Given the description of an element on the screen output the (x, y) to click on. 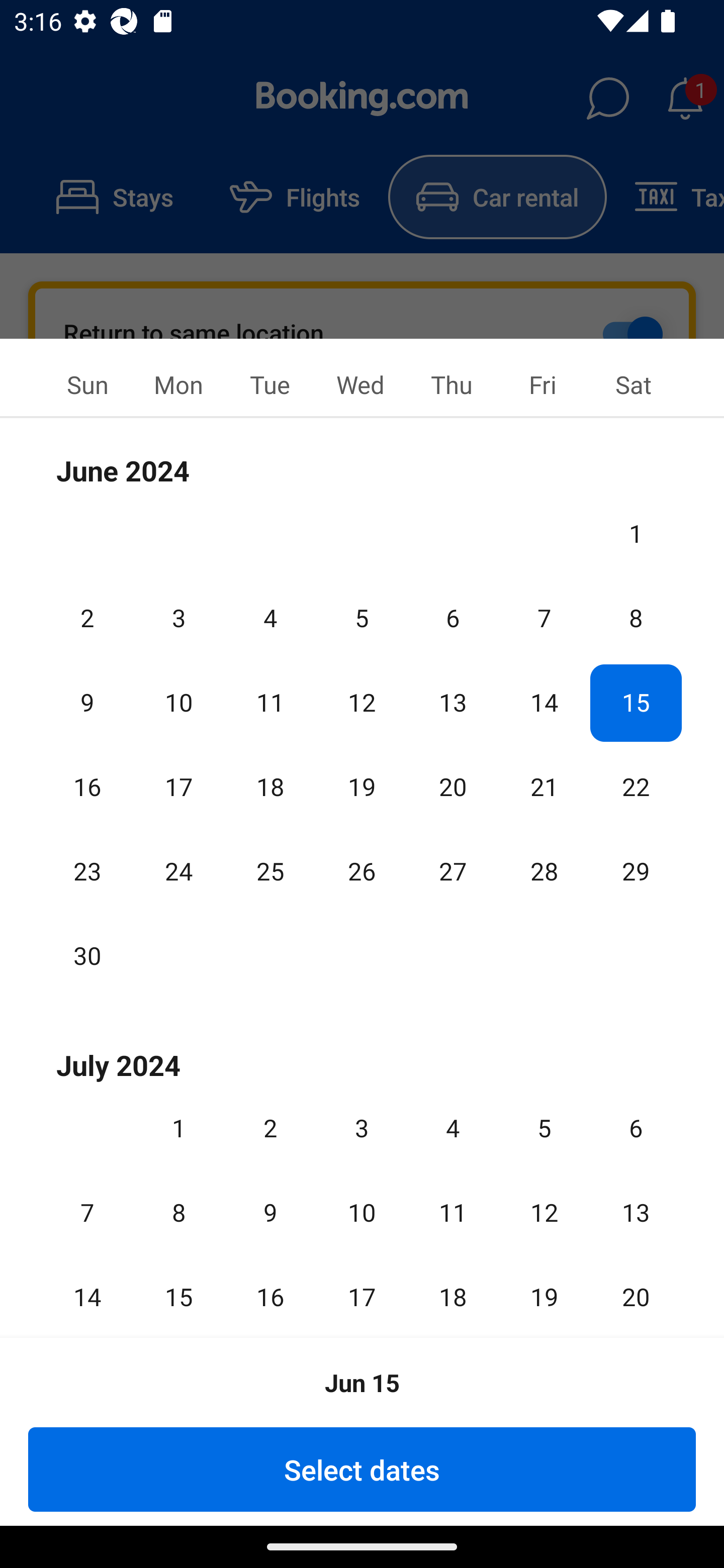
Select dates (361, 1468)
